Given the description of an element on the screen output the (x, y) to click on. 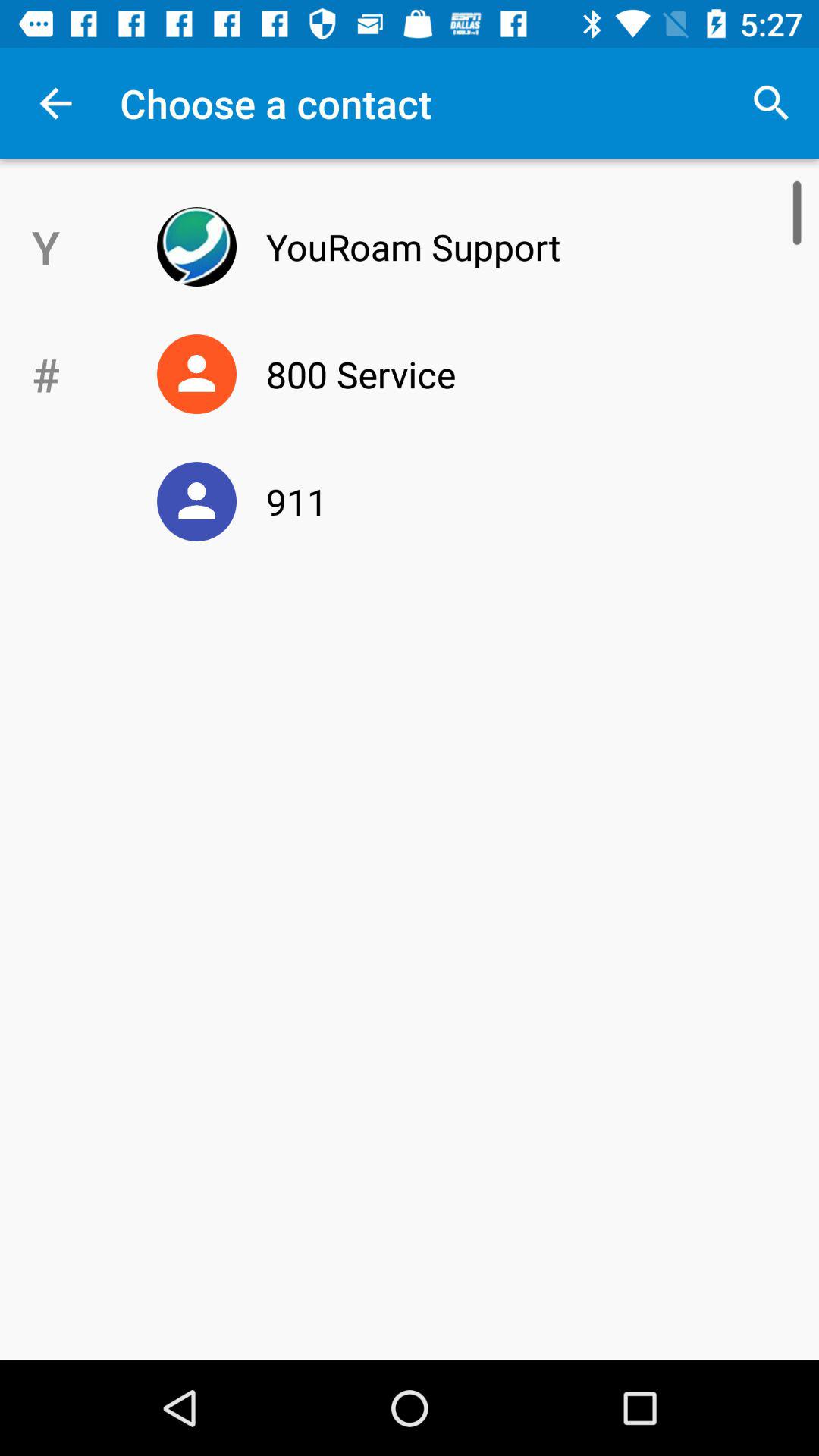
launch app next to the choose a contact (771, 103)
